Given the description of an element on the screen output the (x, y) to click on. 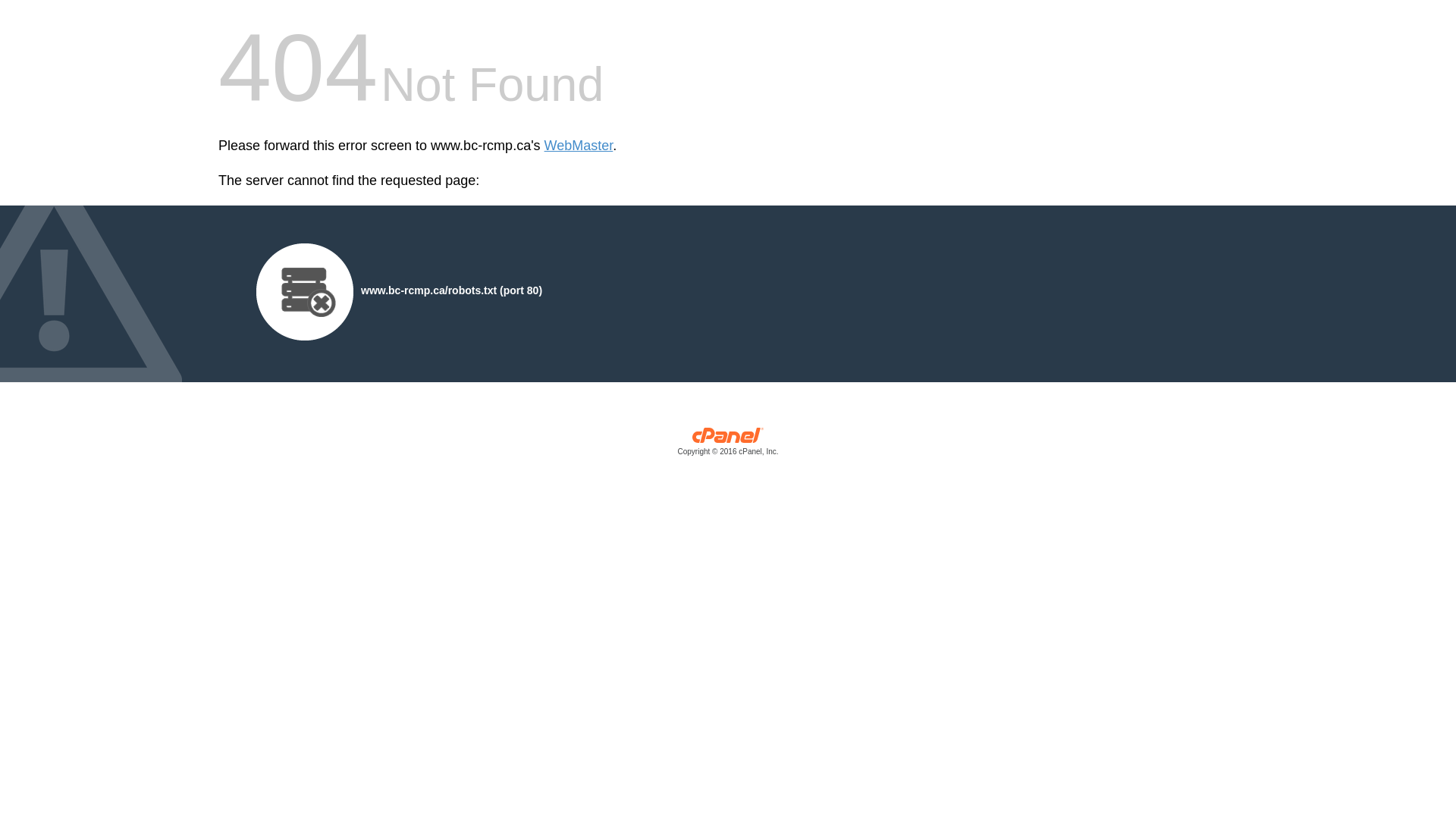
WebMaster Element type: text (578, 145)
